Given the description of an element on the screen output the (x, y) to click on. 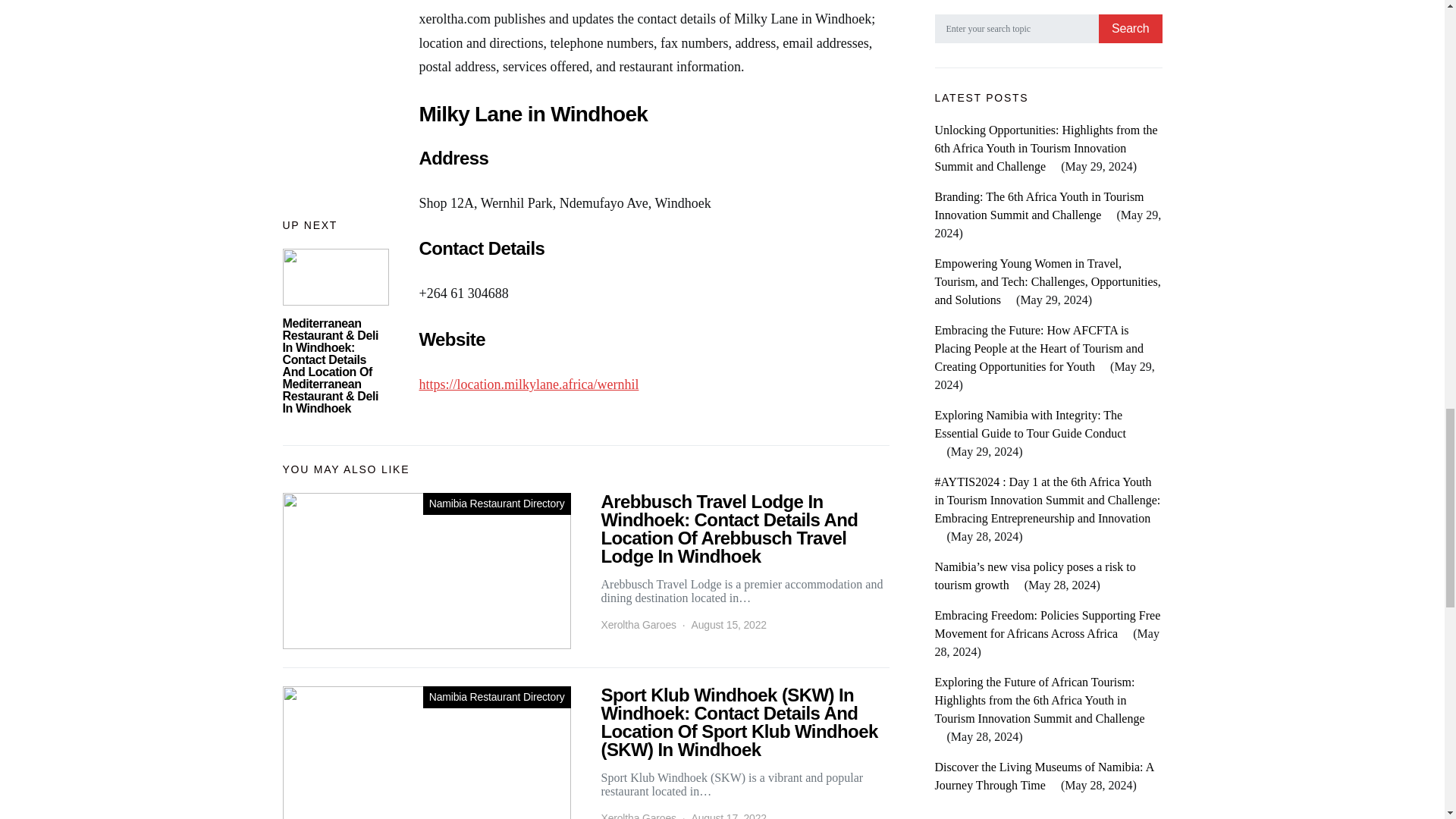
Xeroltha Garoes (637, 814)
Namibia Restaurant Directory (496, 504)
View all posts by Xeroltha Garoes (637, 625)
Namibia Restaurant Directory (496, 697)
View all posts by Xeroltha Garoes (637, 814)
Xeroltha Garoes (637, 625)
